Given the description of an element on the screen output the (x, y) to click on. 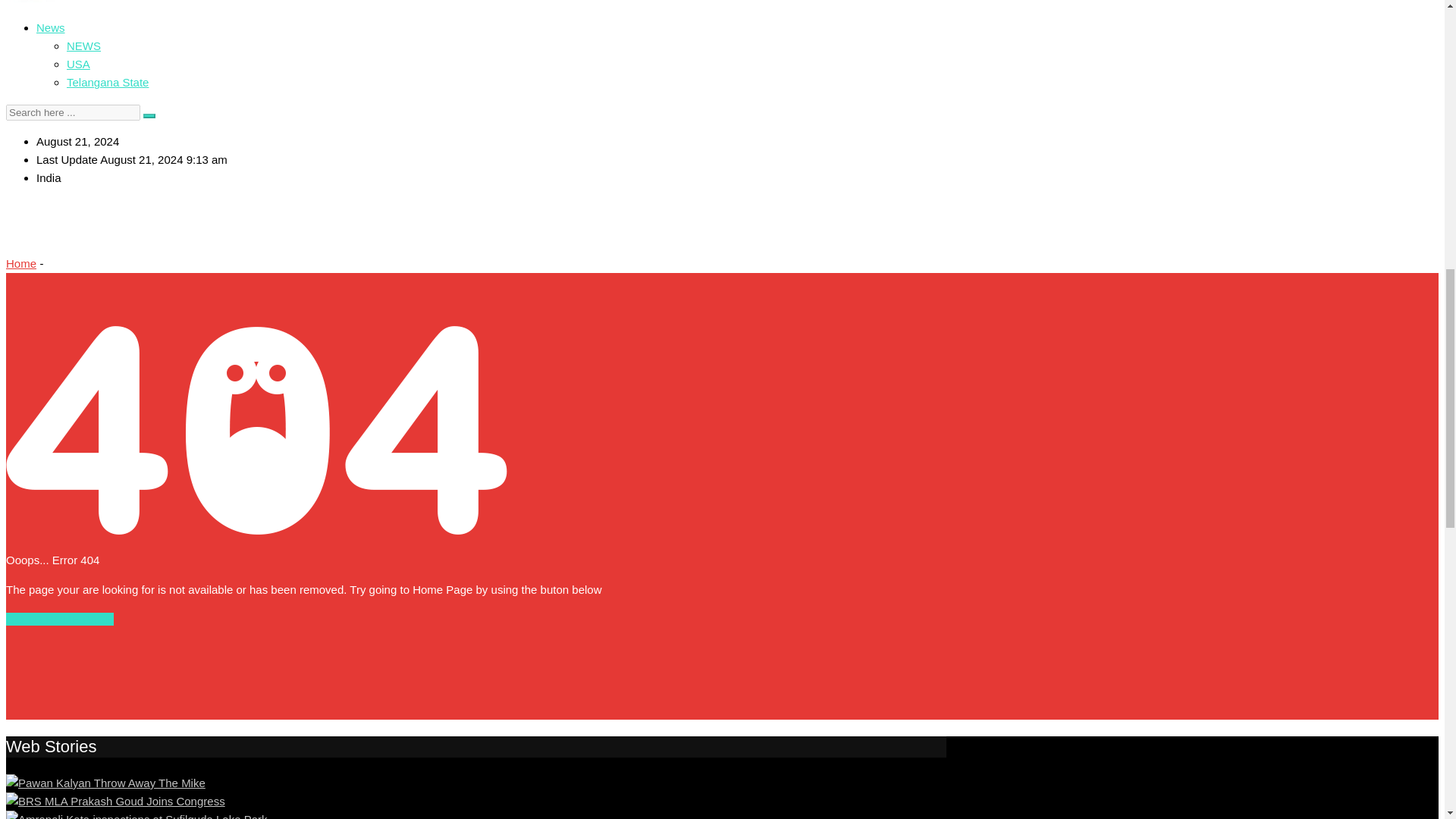
Telangana State (107, 82)
GO TO HOME PAGE (59, 618)
USA (78, 63)
NEWS (83, 45)
Home (20, 263)
News (50, 27)
